Given the description of an element on the screen output the (x, y) to click on. 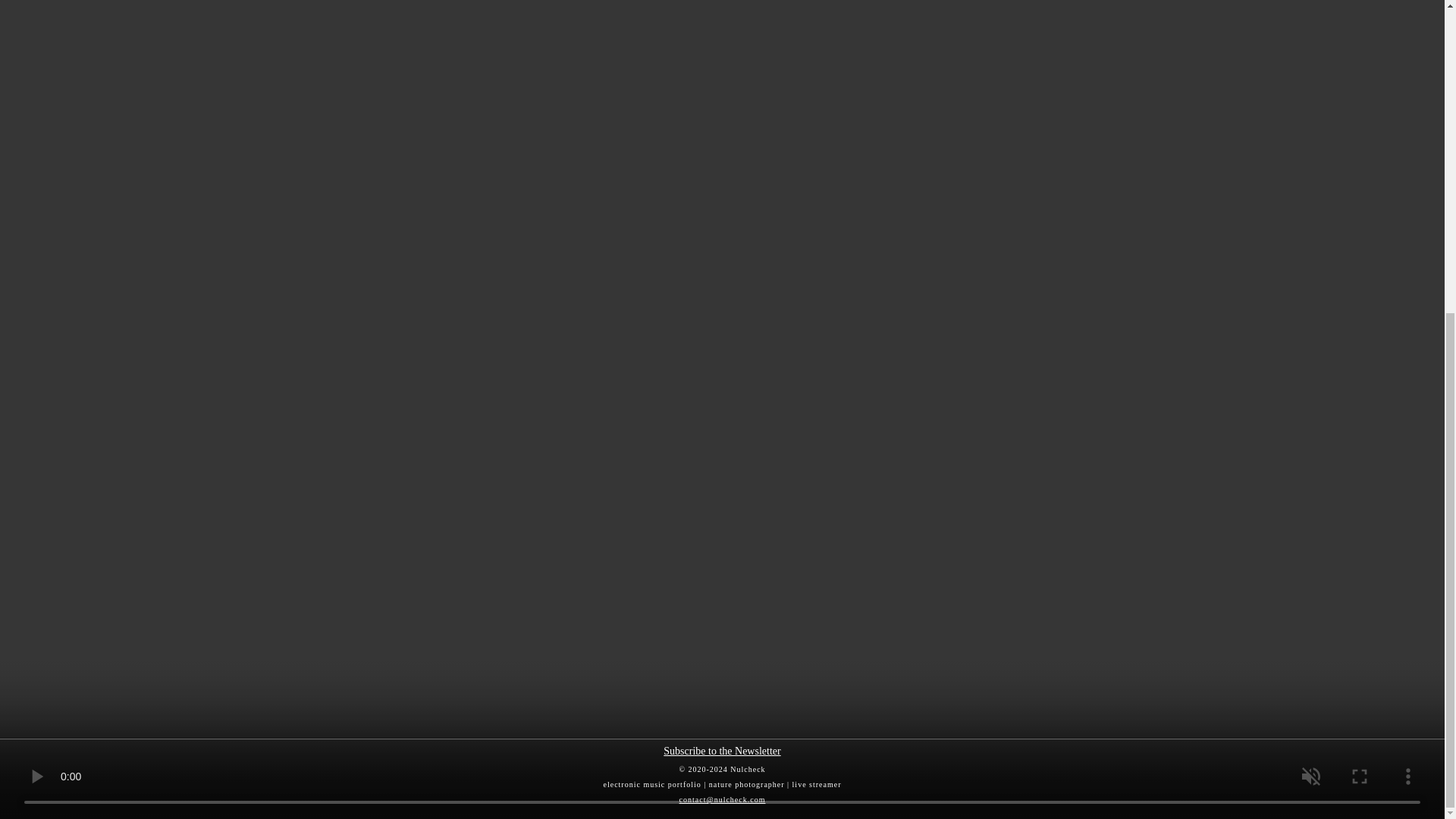
Subscribe to the Newsletter (721, 750)
